Given the description of an element on the screen output the (x, y) to click on. 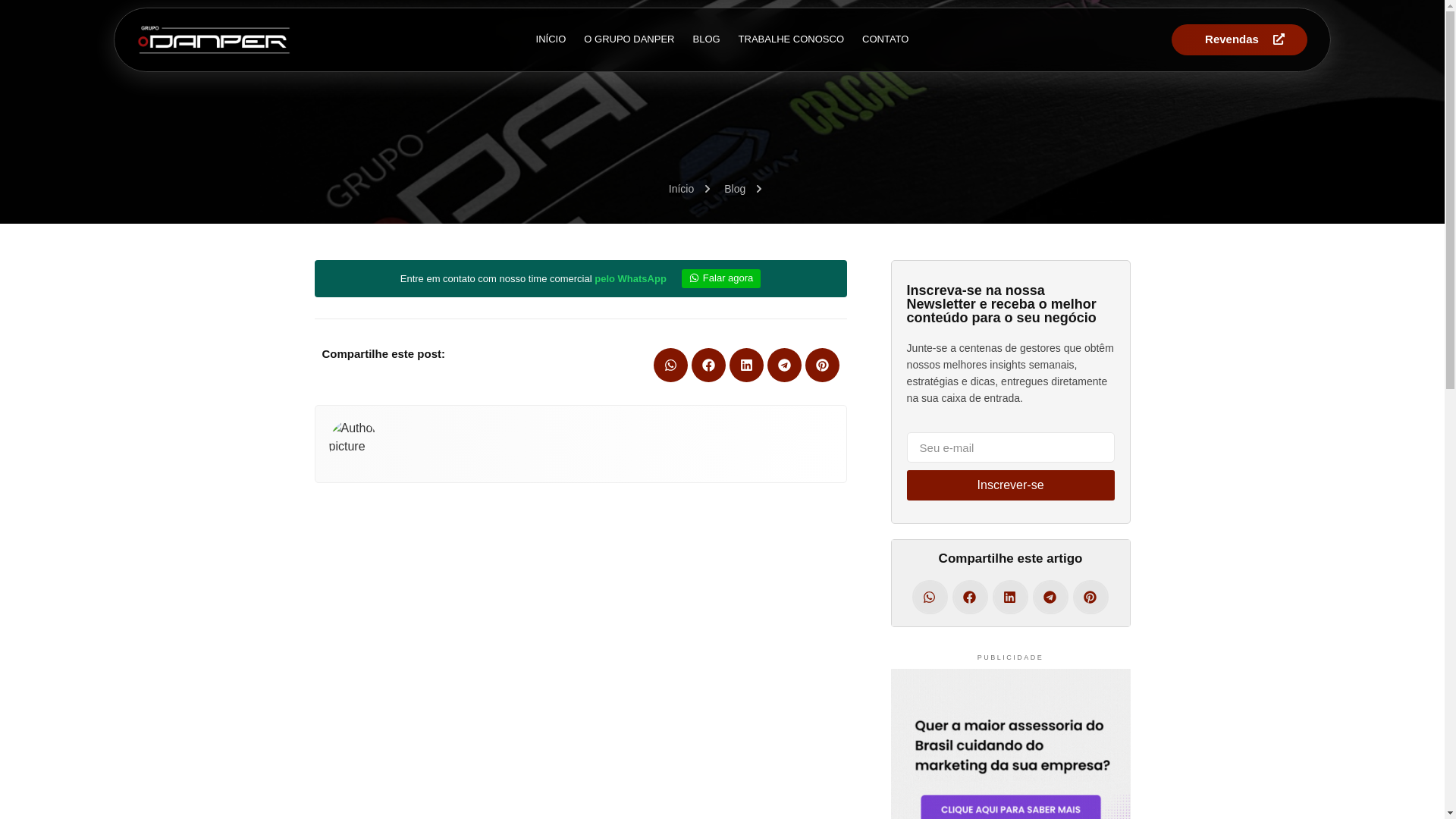
O GRUPO DANPER (628, 39)
BLOG (705, 39)
Blog (723, 188)
Falar agora (720, 278)
Revendas (1239, 39)
CONTATO (885, 39)
TRABALHE CONOSCO (791, 39)
Inscrever-se (1011, 485)
